Given the description of an element on the screen output the (x, y) to click on. 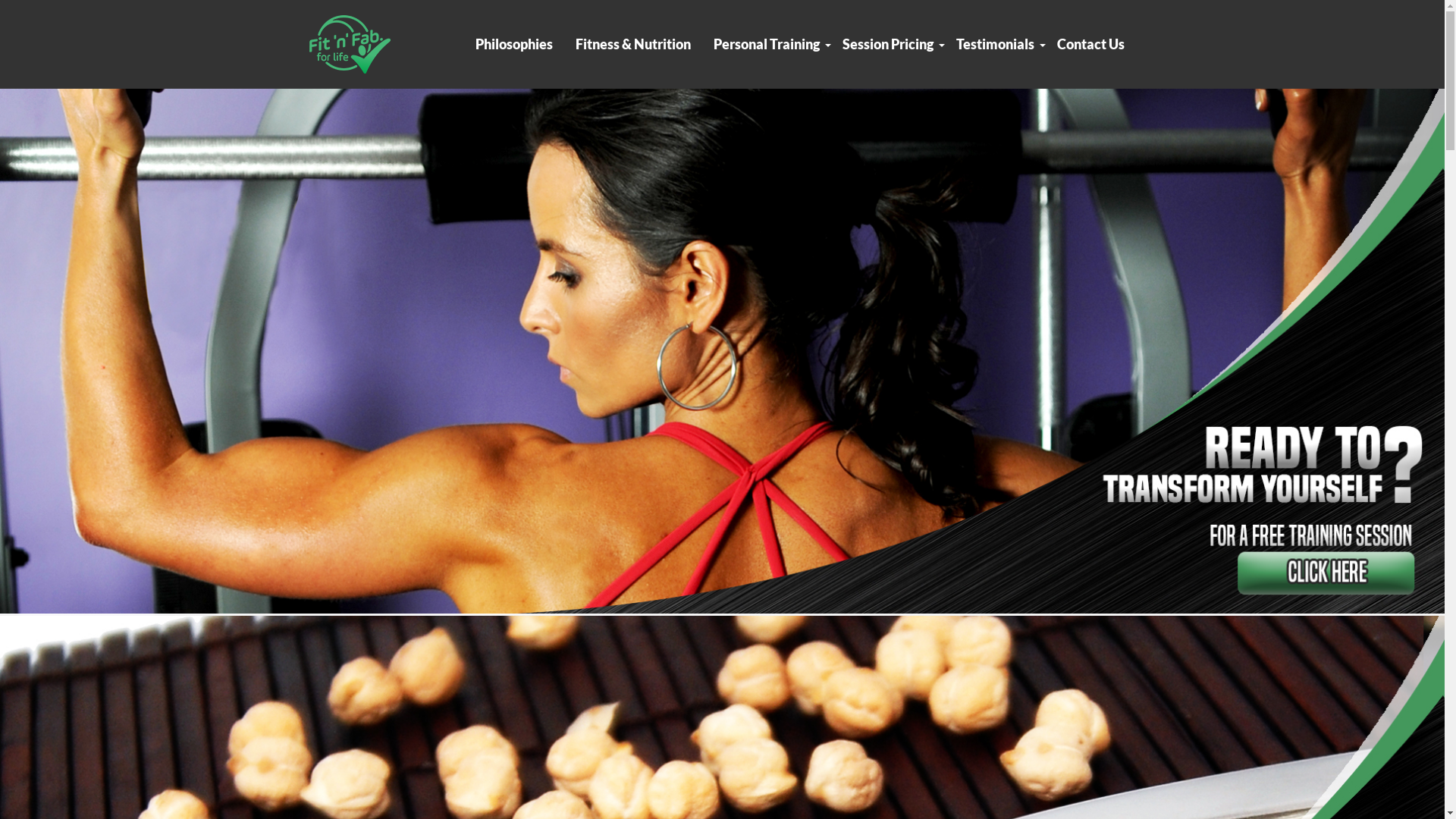
Philosophies Element type: text (514, 44)
Fitness & Nutrition Element type: text (633, 44)
Testimonials Element type: text (994, 44)
Personal Training Element type: text (766, 44)
Fit 'n' Fab Element type: hover (349, 44)
Contact Us Element type: text (1089, 44)
Session Pricing Element type: text (887, 44)
